Given the description of an element on the screen output the (x, y) to click on. 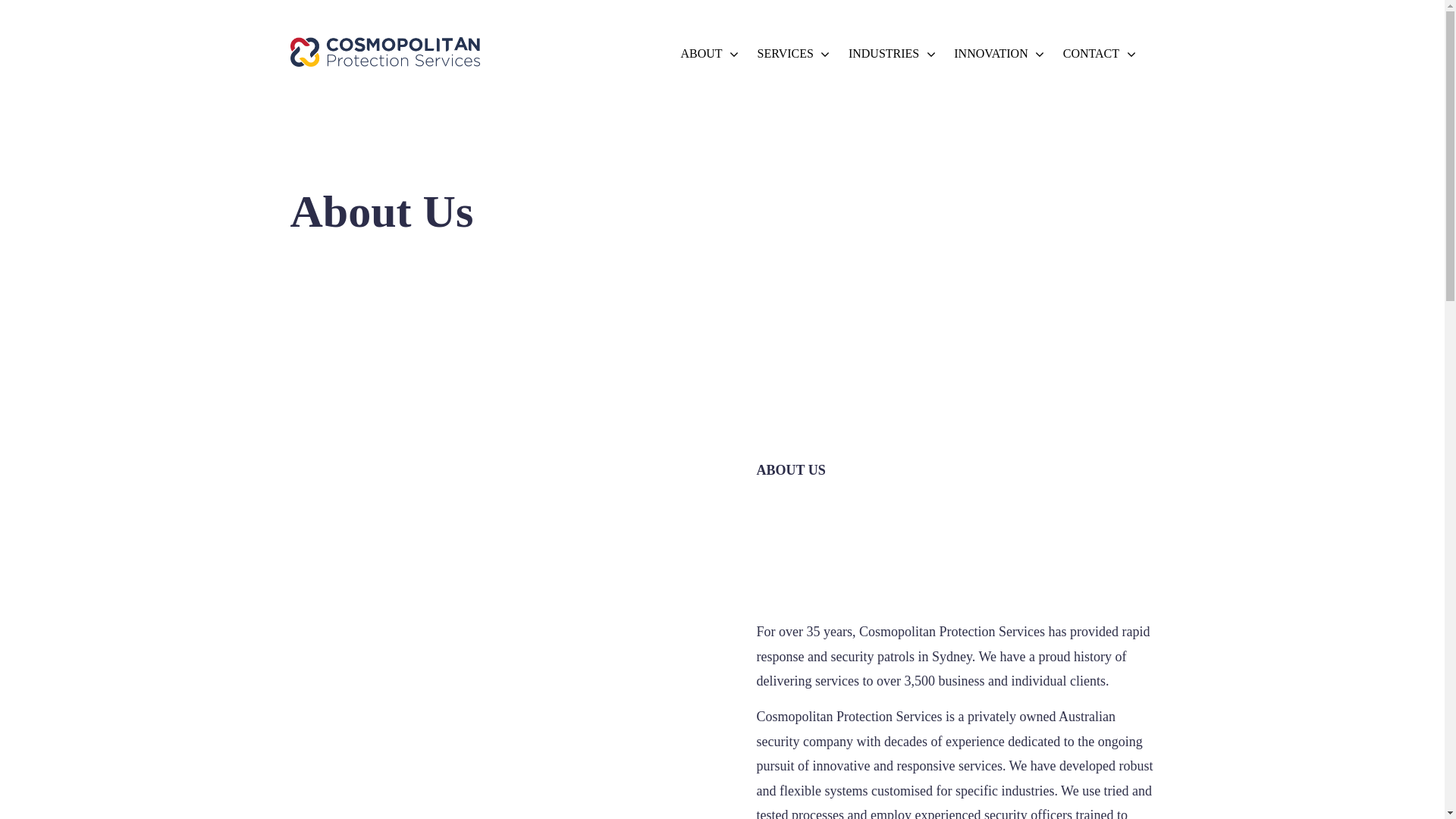
INNOVATION Element type: text (990, 53)
CONTACT Element type: text (1091, 53)
ABOUT Element type: text (701, 53)
SERVICES Element type: text (785, 53)
INDUSTRIES Element type: text (883, 53)
